Given the description of an element on the screen output the (x, y) to click on. 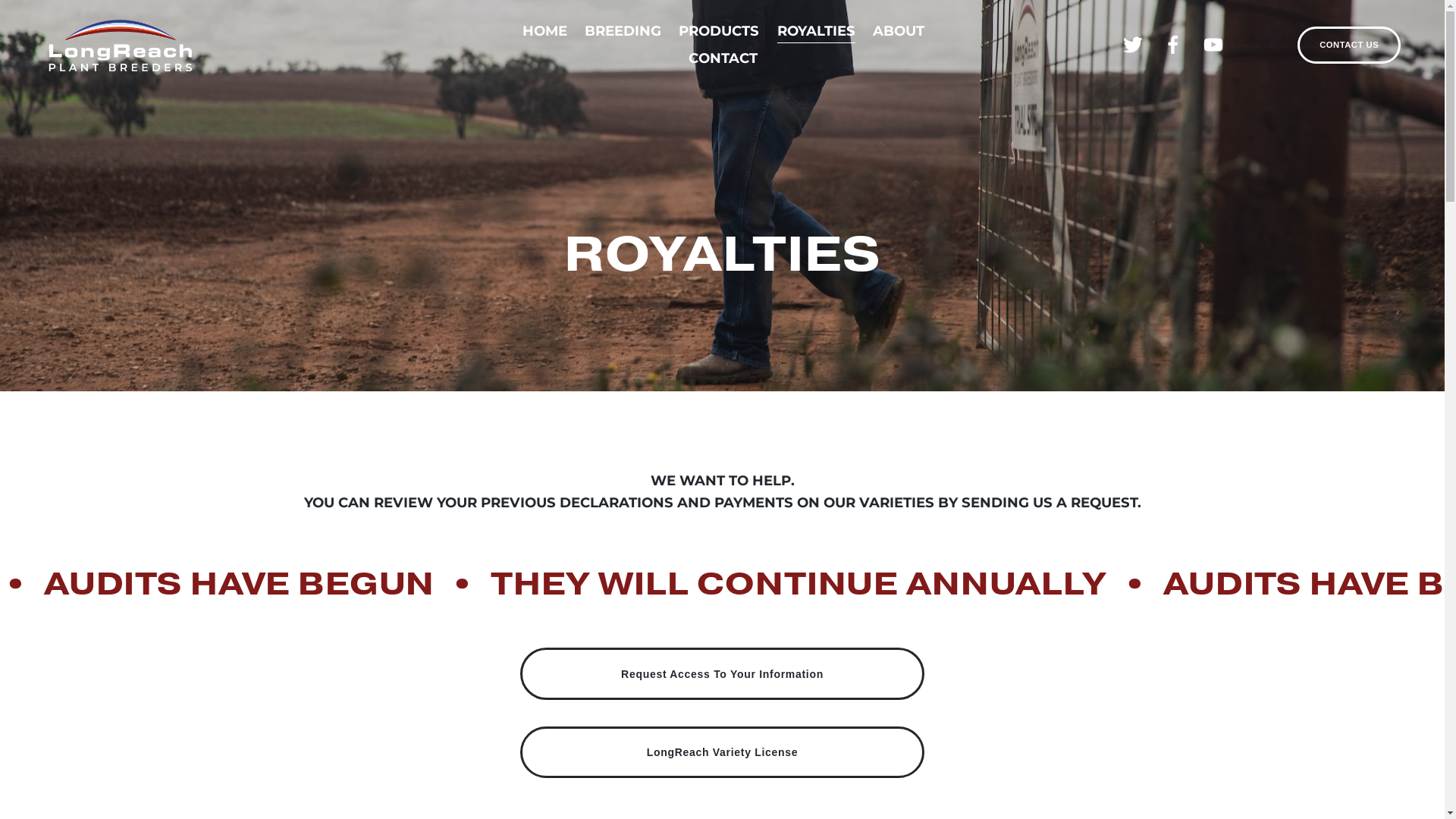
CONTACT Element type: text (722, 58)
CONTACT US Element type: text (1348, 43)
PRODUCTS Element type: text (718, 30)
LongReach Variety License Element type: text (722, 752)
Request Access To Your Information Element type: text (722, 673)
HOME Element type: text (544, 30)
BREEDING Element type: text (622, 30)
ROYALTIES Element type: text (816, 30)
ABOUT Element type: text (898, 30)
